Given the description of an element on the screen output the (x, y) to click on. 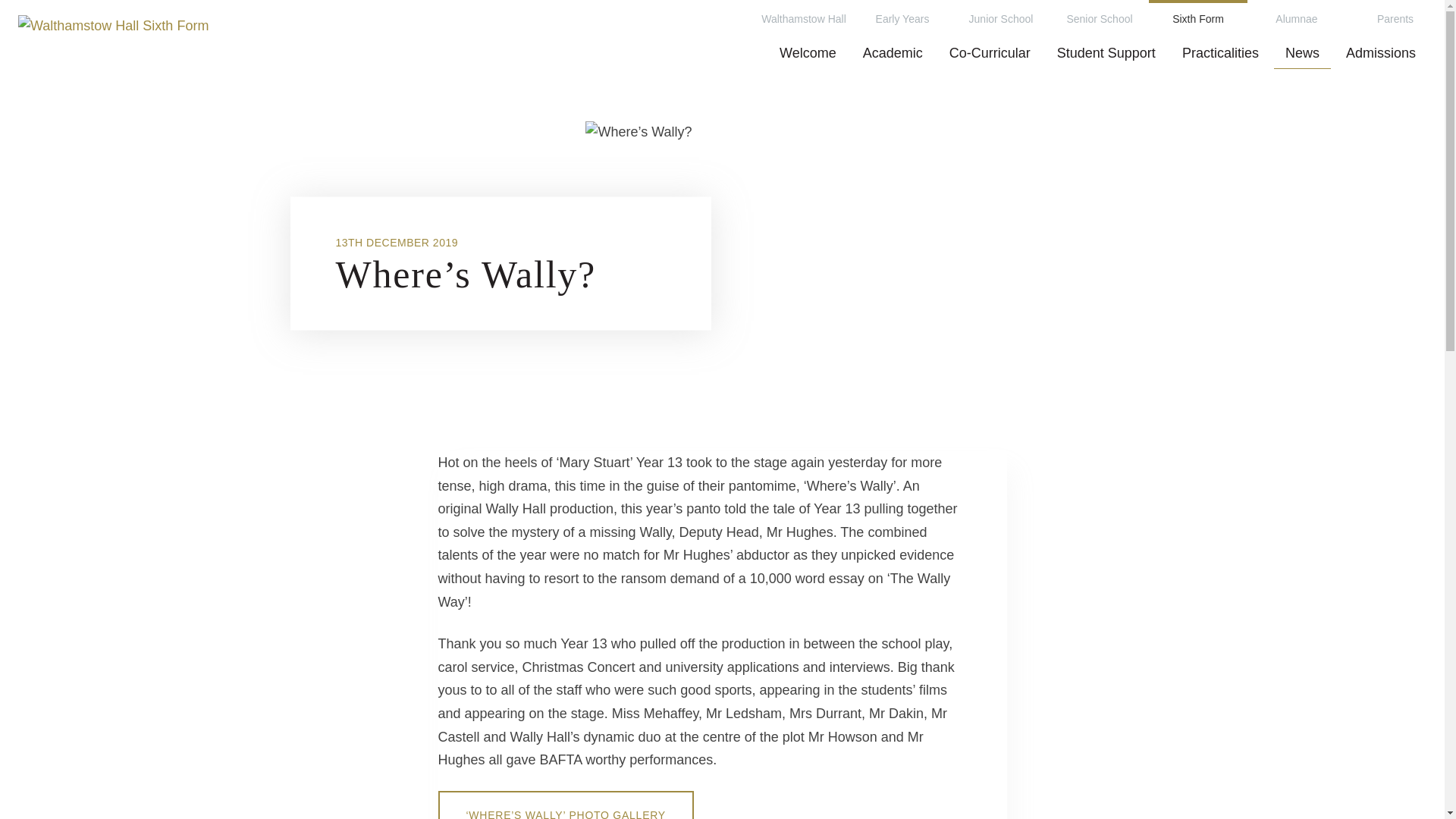
Junior School (1000, 18)
Senior School (1098, 18)
Academic (892, 52)
Sixth Form (1197, 18)
Student Support (1106, 52)
Walthamstow Hall (803, 18)
News (1302, 52)
Alumnae (1296, 18)
Welcome (807, 52)
Early Years (902, 18)
Co-Curricular (989, 52)
Practicalities (1219, 52)
Admissions (1380, 52)
